Given the description of an element on the screen output the (x, y) to click on. 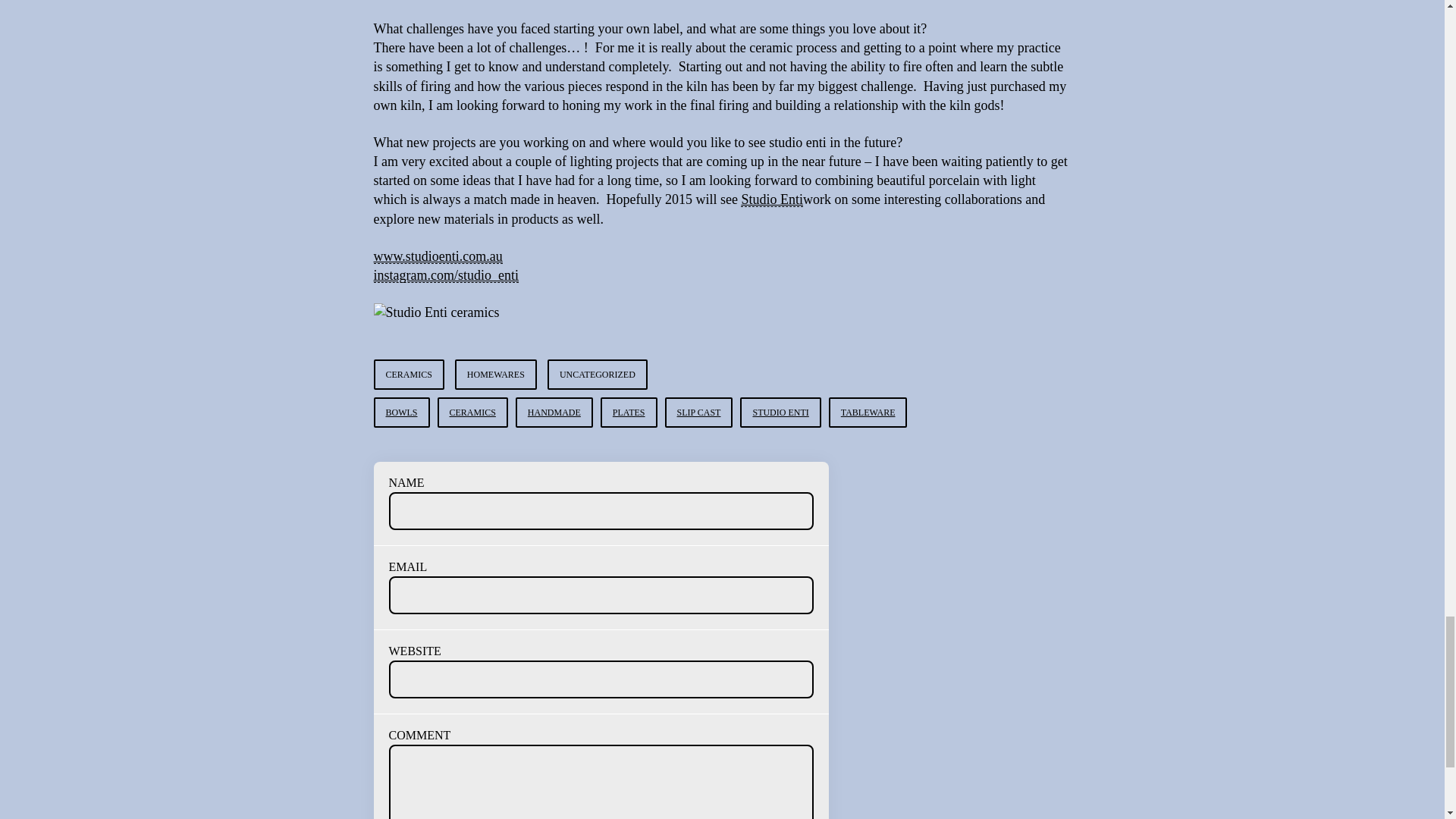
Studio Enti Instagram (445, 275)
Studio Enti (437, 256)
Studio Enti (772, 199)
